Given the description of an element on the screen output the (x, y) to click on. 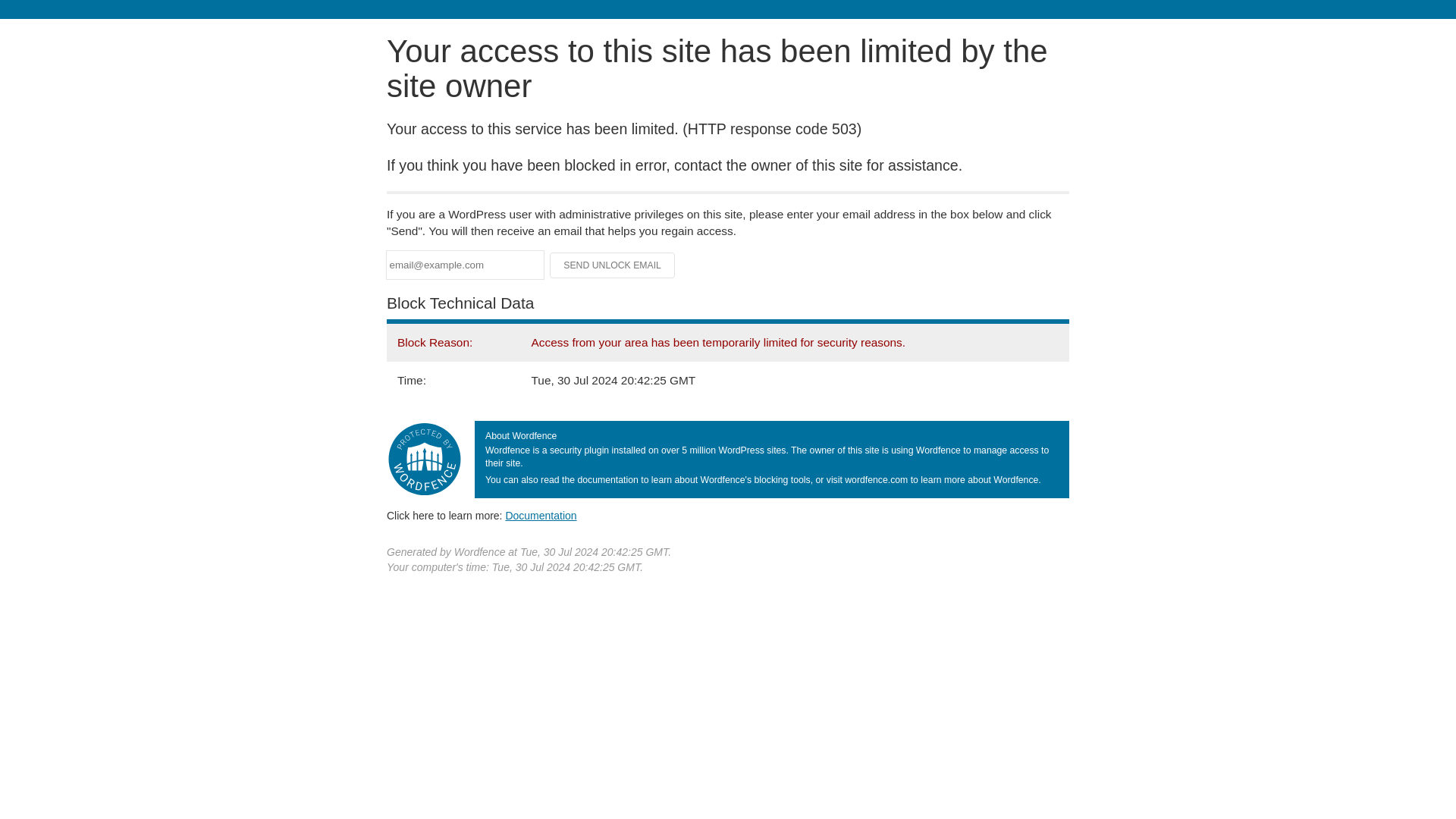
Send Unlock Email (612, 265)
Send Unlock Email (612, 265)
Documentation (540, 515)
